Given the description of an element on the screen output the (x, y) to click on. 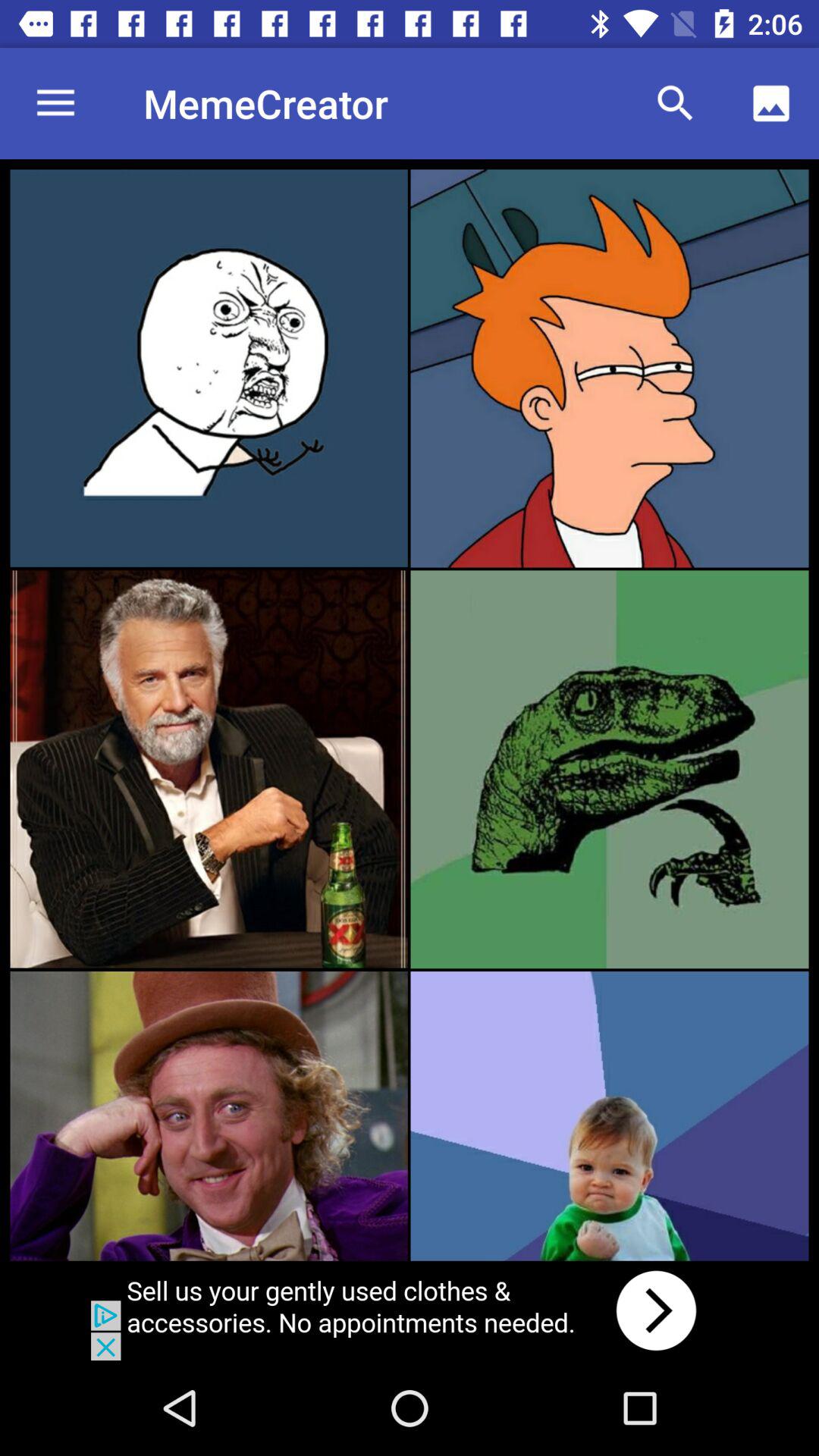
cartoon picture (609, 368)
